Given the description of an element on the screen output the (x, y) to click on. 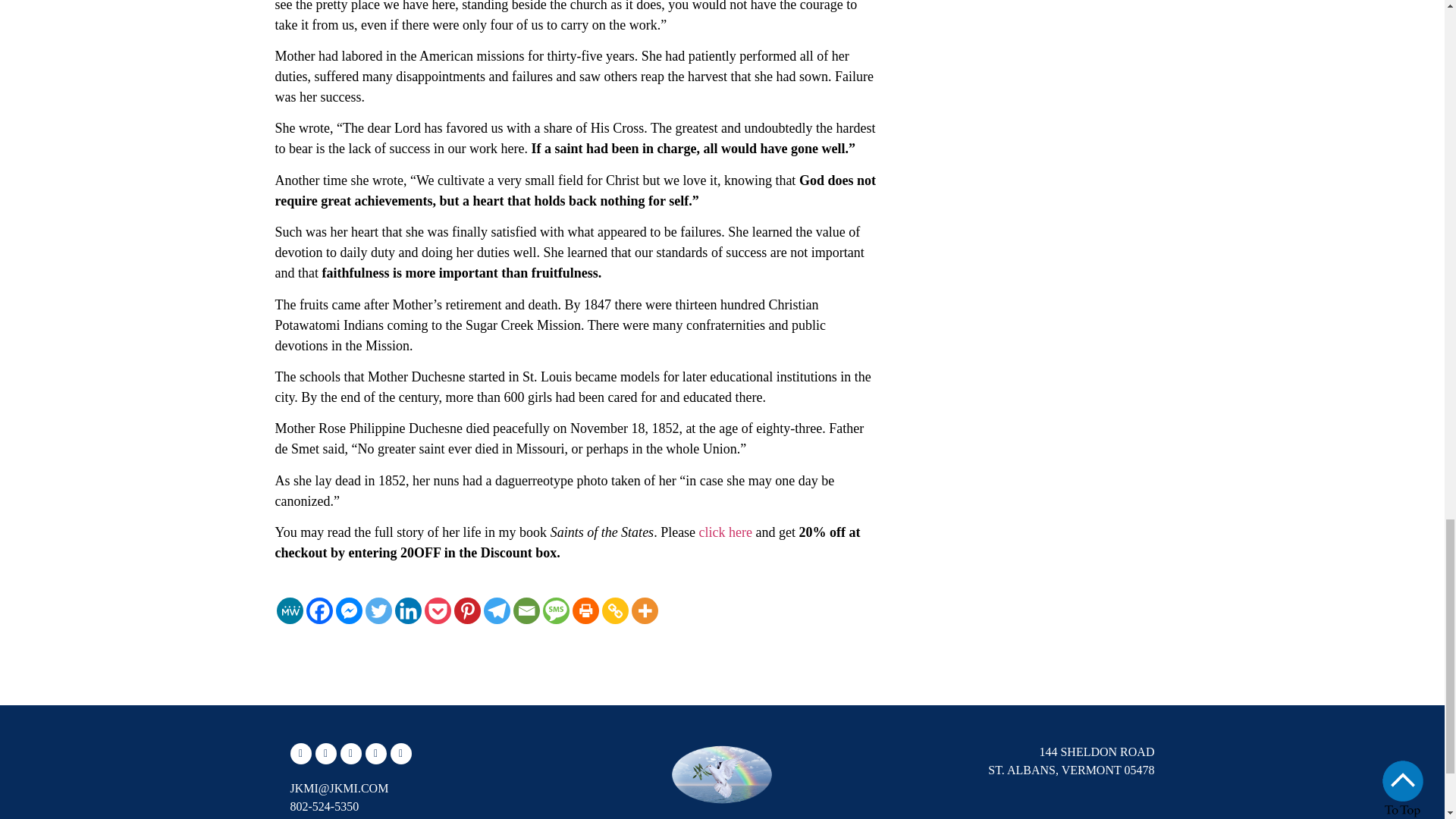
Linkedin (407, 610)
Twitter (378, 610)
MeWe (289, 610)
Facebook (319, 610)
